Given the description of an element on the screen output the (x, y) to click on. 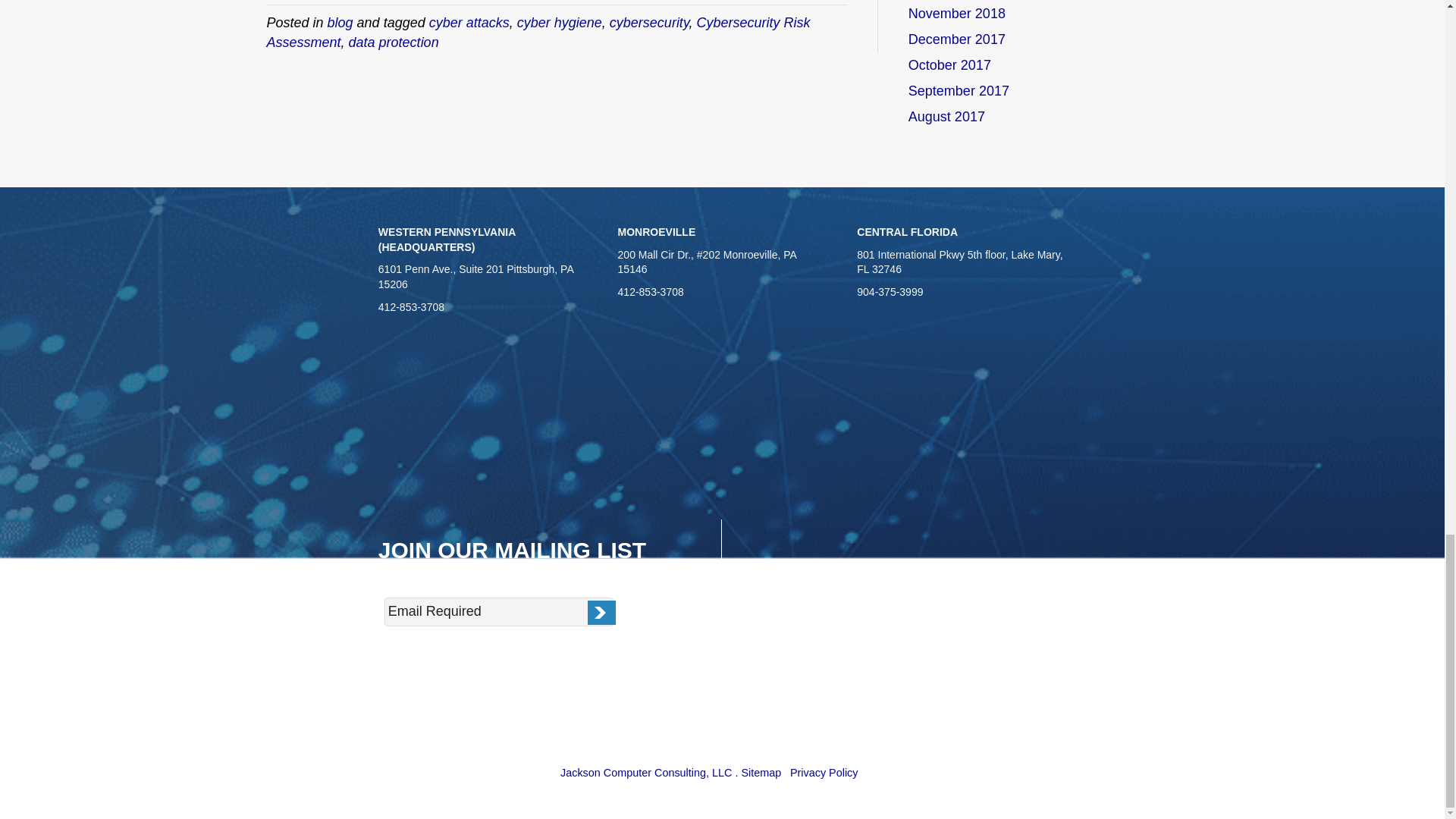
Monroeville Office (722, 442)
Pittsburgh Office (483, 428)
Florida Office (961, 428)
